Given the description of an element on the screen output the (x, y) to click on. 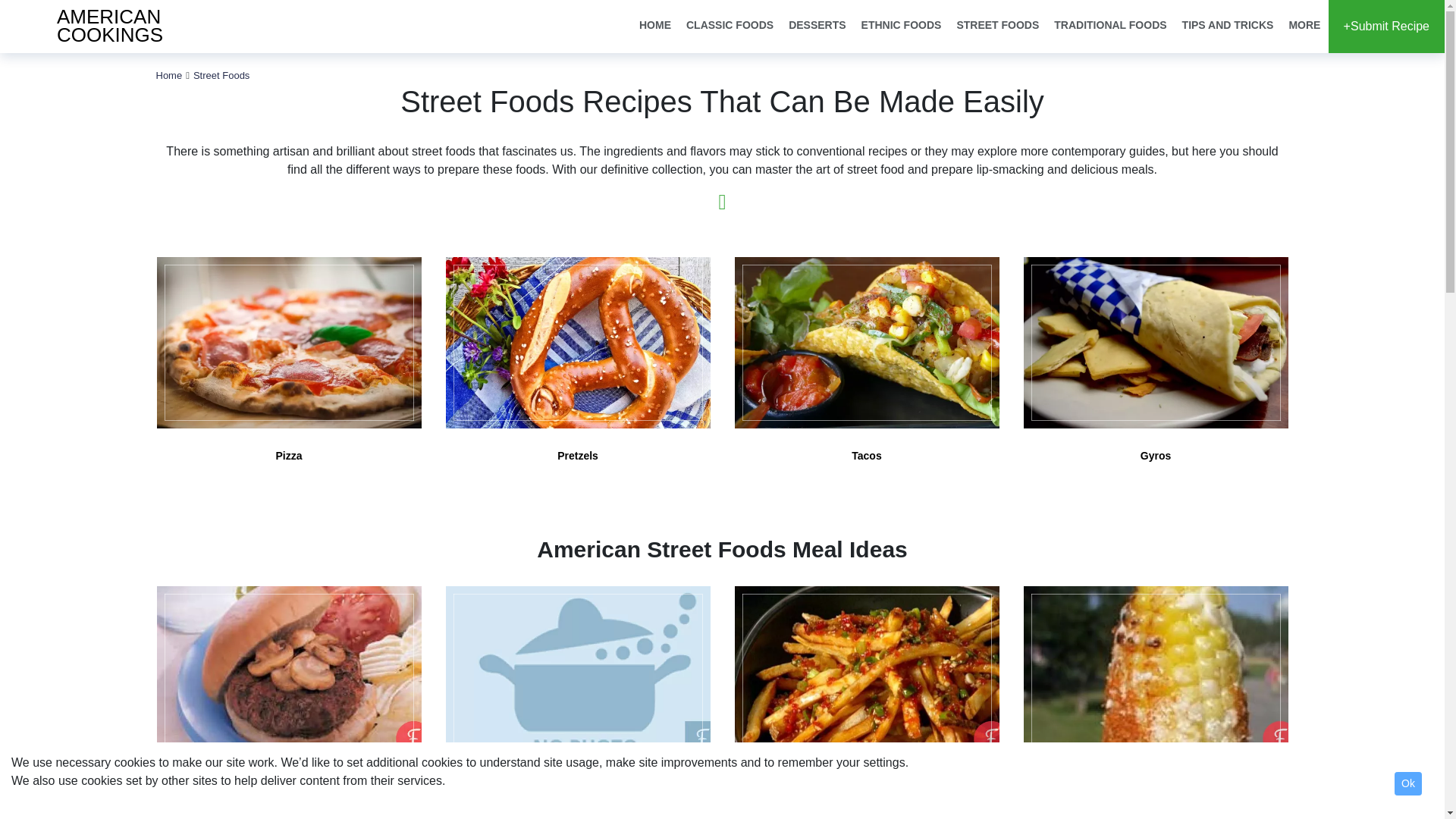
CLASSIC FOODS (729, 25)
STREET FOODS (997, 25)
TRADITIONAL FOODS (1110, 25)
TIPS AND TRICKS (1228, 25)
Home (169, 75)
DESSERTS (817, 25)
Tacos (866, 370)
ETHNIC FOODS (901, 25)
Street Foods (220, 75)
Pretzels (577, 370)
Read more (722, 202)
Pizza (288, 370)
Gyros (101, 26)
